Given the description of an element on the screen output the (x, y) to click on. 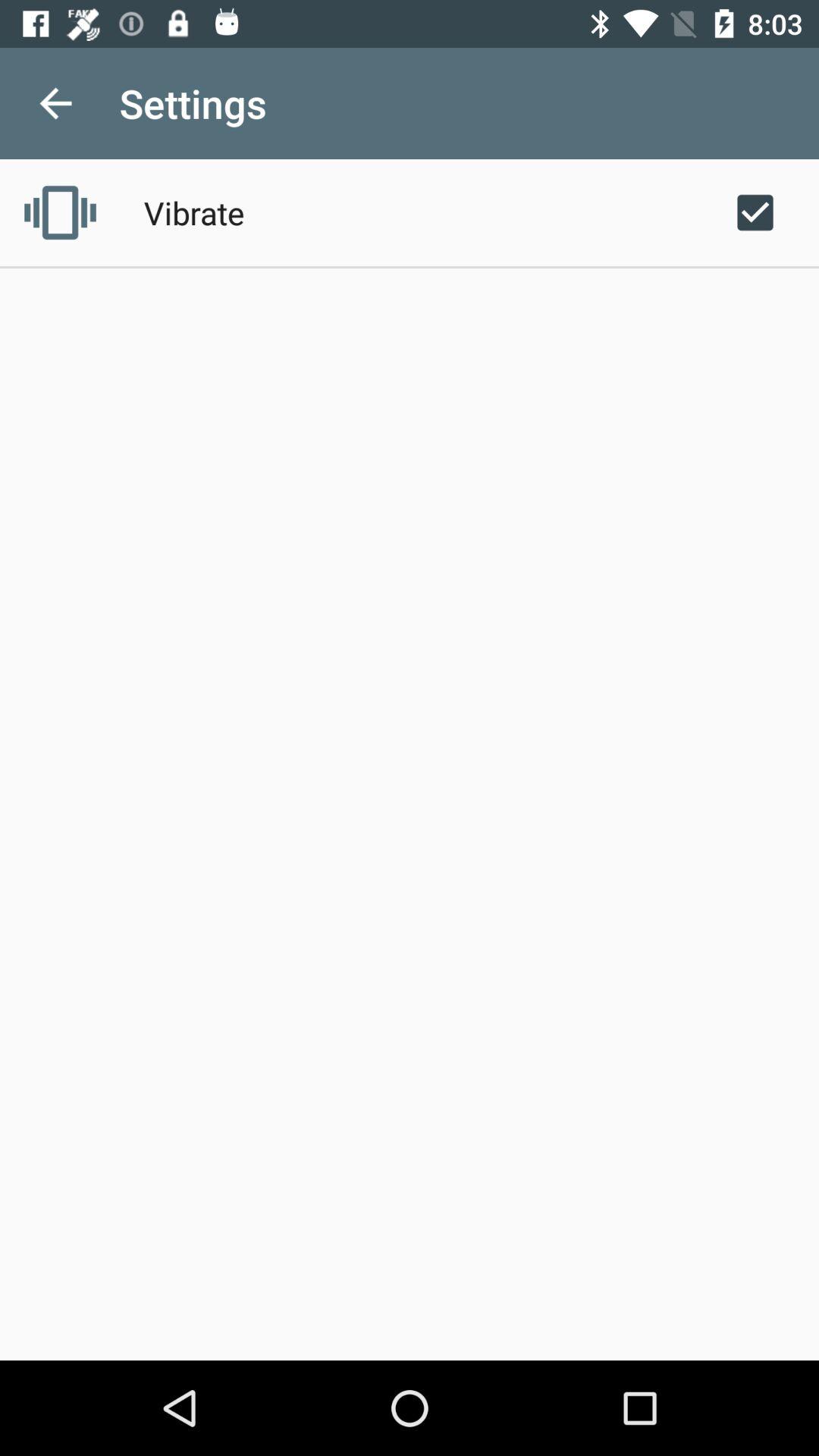
jump until the vibrate (193, 212)
